Given the description of an element on the screen output the (x, y) to click on. 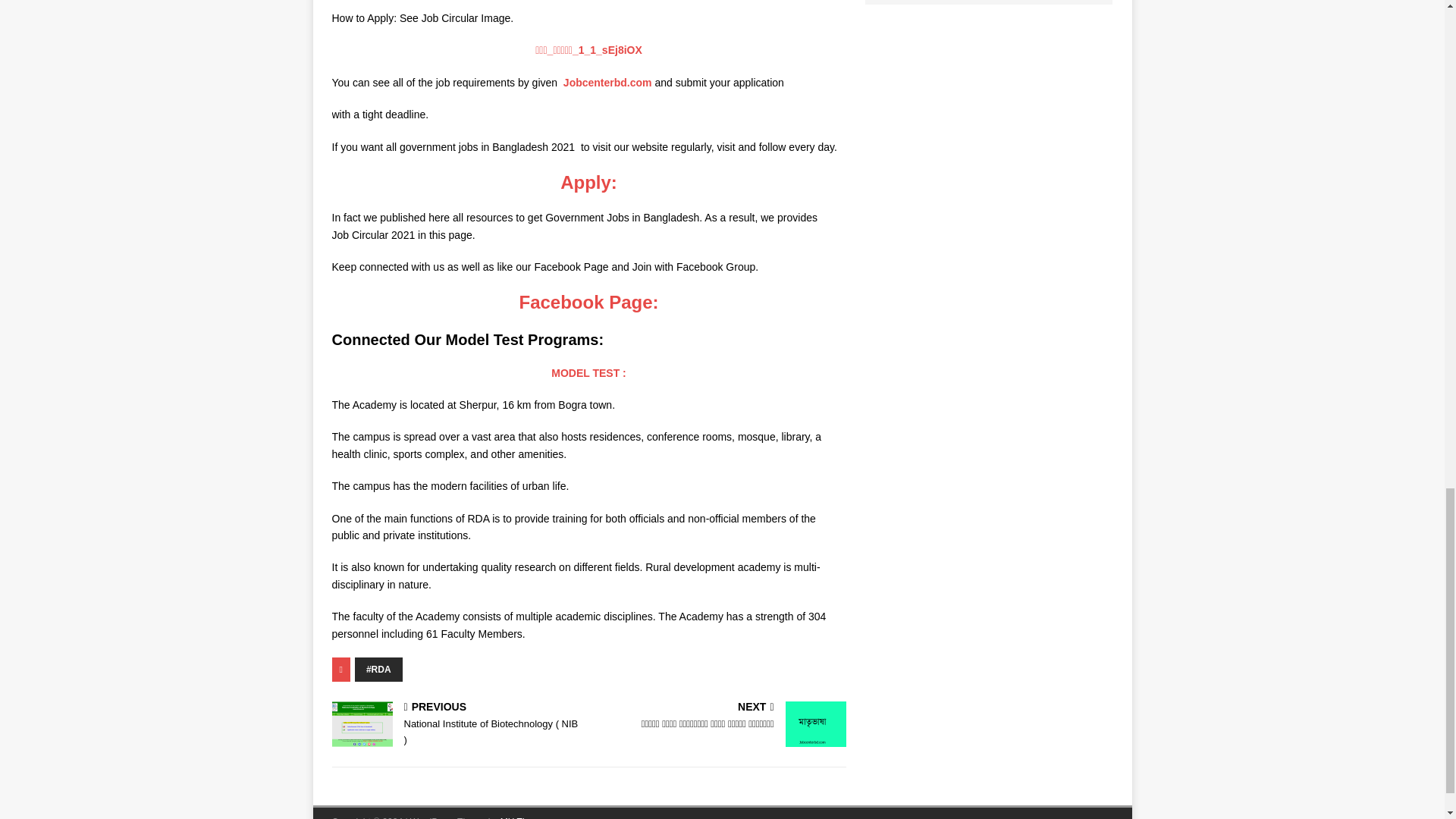
Jobcenterbd.com (607, 82)
MODEL TEST : (588, 372)
Apply: (588, 181)
Facebook Page: (588, 301)
